Given the description of an element on the screen output the (x, y) to click on. 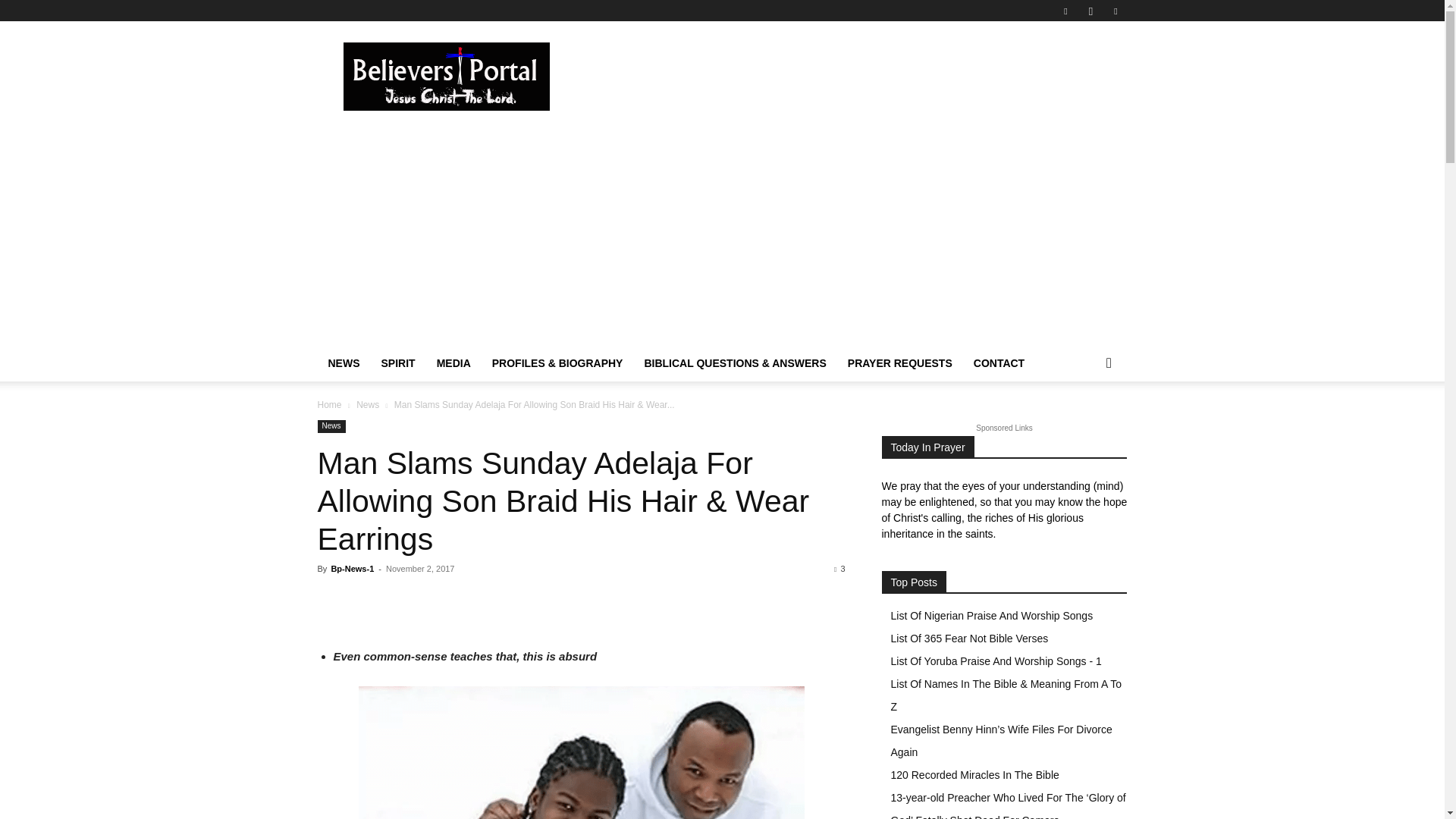
MEDIA (453, 362)
View all posts in News (367, 404)
Twitter (1114, 10)
PRAYER REQUESTS (899, 362)
Instagram (1090, 10)
SPIRIT (397, 362)
NEWS (343, 362)
Facebook (1065, 10)
